Given the description of an element on the screen output the (x, y) to click on. 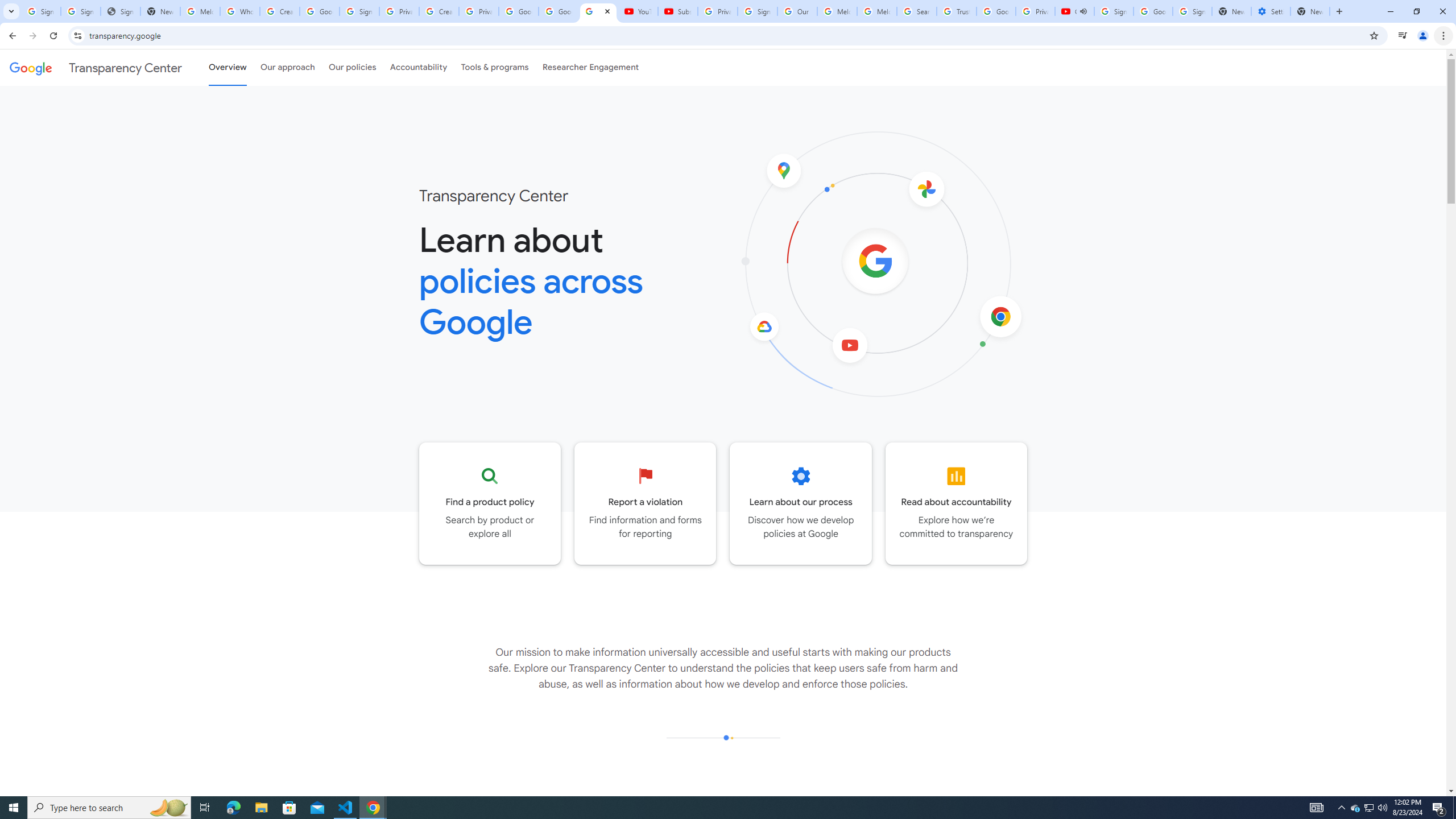
Google Ads - Sign in (995, 11)
Go to the Accountability page (956, 503)
Tools & programs (494, 67)
Our policies (351, 67)
Sign in - Google Accounts (1113, 11)
Accountability (418, 67)
Our approach (287, 67)
